Given the description of an element on the screen output the (x, y) to click on. 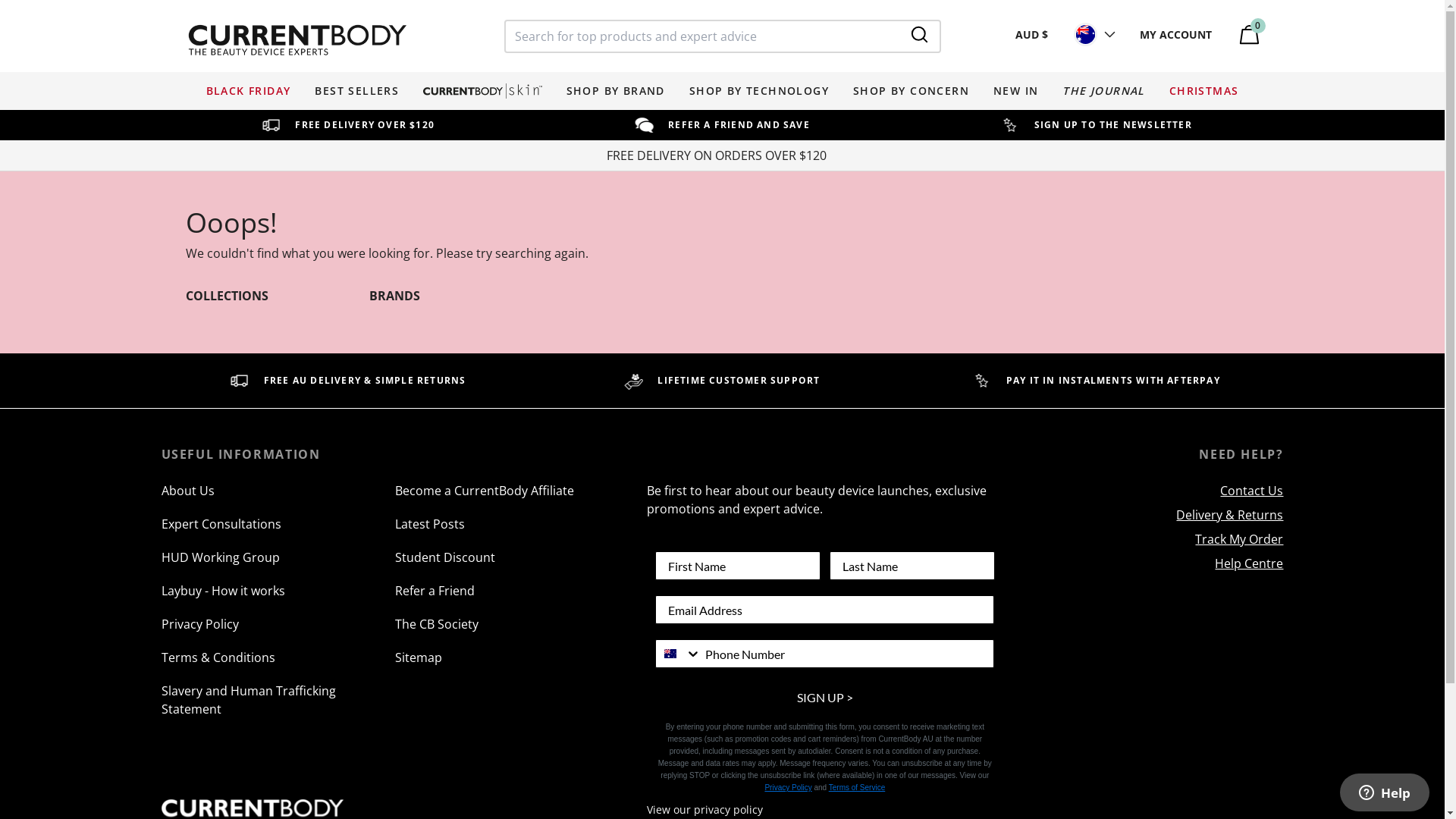
BLACK FRIDAY Element type: text (248, 90)
Track My Order Element type: text (1151, 542)
CurrentBody AU Element type: text (296, 39)
0
Basket Element type: text (1242, 34)
SIGN UP TO THE NEWSLETTER Element type: text (1096, 125)
SHOP BY BRAND Element type: text (615, 90)
MY ACCOUNT Element type: text (1175, 34)
Slavery and Human Trafficking Statement Element type: text (277, 707)
Privacy Policy Element type: text (787, 787)
The CB Society Element type: text (511, 631)
REFER A FRIEND AND SAVE Element type: text (722, 125)
BEST SELLERS Element type: text (356, 90)
Sitemap Element type: text (511, 664)
CHRISTMAS Element type: text (1204, 90)
About Us Element type: text (277, 497)
HUD Working Group Element type: text (277, 564)
SIGN UP > Element type: text (824, 697)
Expert Consultations Element type: text (277, 531)
Become a CurrentBody Affiliate Element type: text (511, 497)
FREE DELIVERY ON ORDERS OVER $120 Element type: text (719, 155)
Refer a Friend Element type: text (511, 598)
Submit Element type: text (922, 34)
LIFETIME CUSTOMER SUPPORT Element type: text (722, 380)
Help Element type: text (1384, 792)
AUD $ Element type: text (1042, 34)
Terms of Service Element type: text (856, 787)
Laybuy - How it works Element type: text (277, 598)
PAY IT IN INSTALMENTS WITH AFTERPAY Element type: text (1096, 380)
Delivery & Returns Element type: text (1151, 517)
NEW IN Element type: text (1015, 90)
View our privacy policy Element type: text (704, 809)
Privacy Policy Element type: text (277, 631)
CURRENTBODY SKIN Element type: text (482, 90)
Terms & Conditions Element type: text (277, 664)
Contact Us Element type: text (1151, 493)
FREE DELIVERY OVER $120 Element type: text (347, 125)
Latest Posts Element type: text (511, 531)
Help Centre Element type: text (1151, 566)
Australia Element type: hover (670, 653)
SHOP BY CONCERN Element type: text (911, 90)
FREE AU DELIVERY & SIMPLE RETURNS Element type: text (347, 380)
THE JOURNAL Element type: text (1103, 90)
Submit Element type: text (20, 8)
Student Discount Element type: text (511, 564)
SHOP BY TECHNOLOGY Element type: text (758, 90)
